Given the description of an element on the screen output the (x, y) to click on. 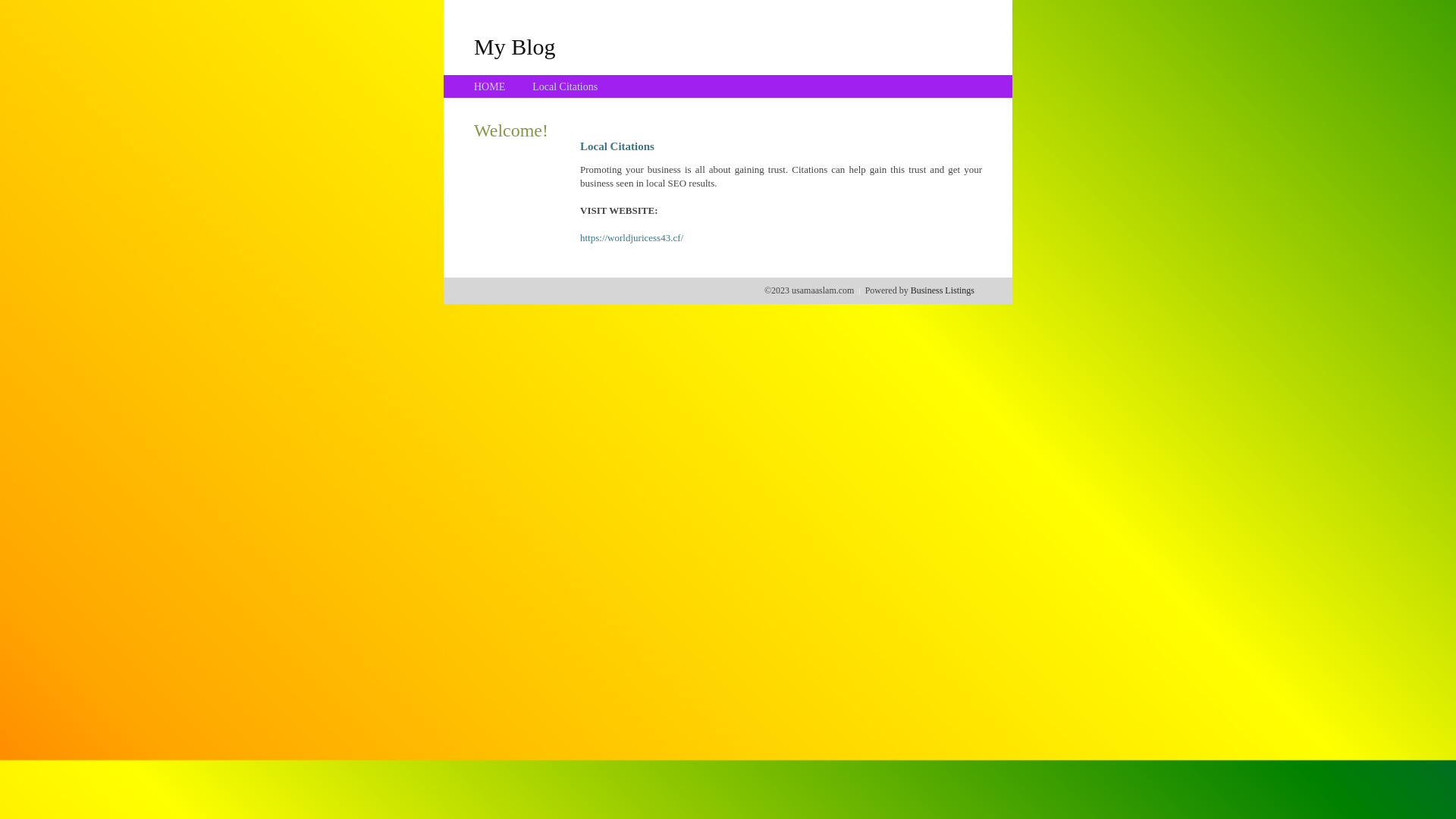
https://worldjuricess43.cf/ Element type: text (631, 237)
Business Listings Element type: text (942, 290)
HOME Element type: text (489, 86)
My Blog Element type: text (514, 46)
Local Citations Element type: text (564, 86)
